Given the description of an element on the screen output the (x, y) to click on. 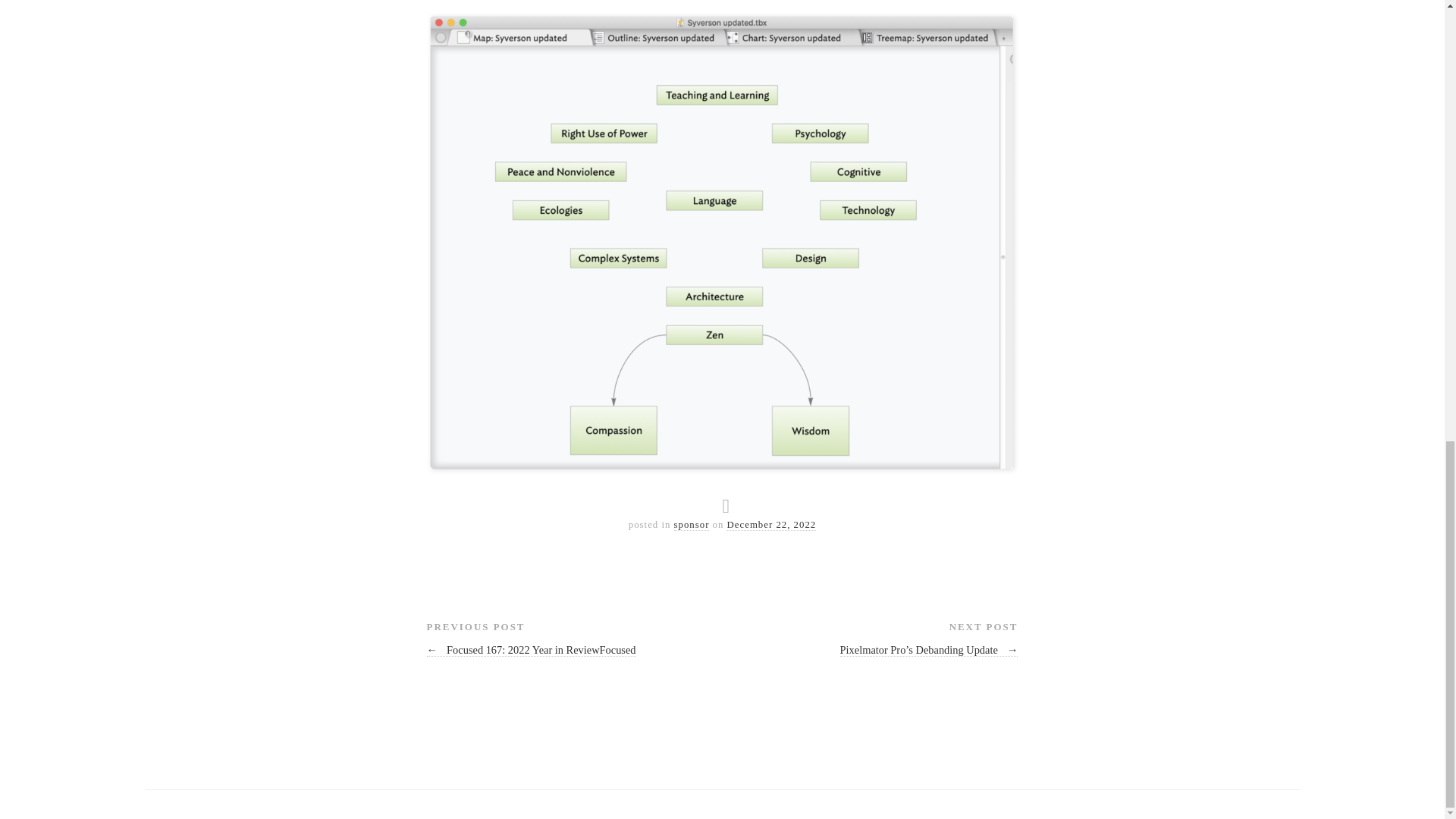
09:07 (771, 524)
sponsor (692, 524)
December 22, 2022 (771, 524)
